Given the description of an element on the screen output the (x, y) to click on. 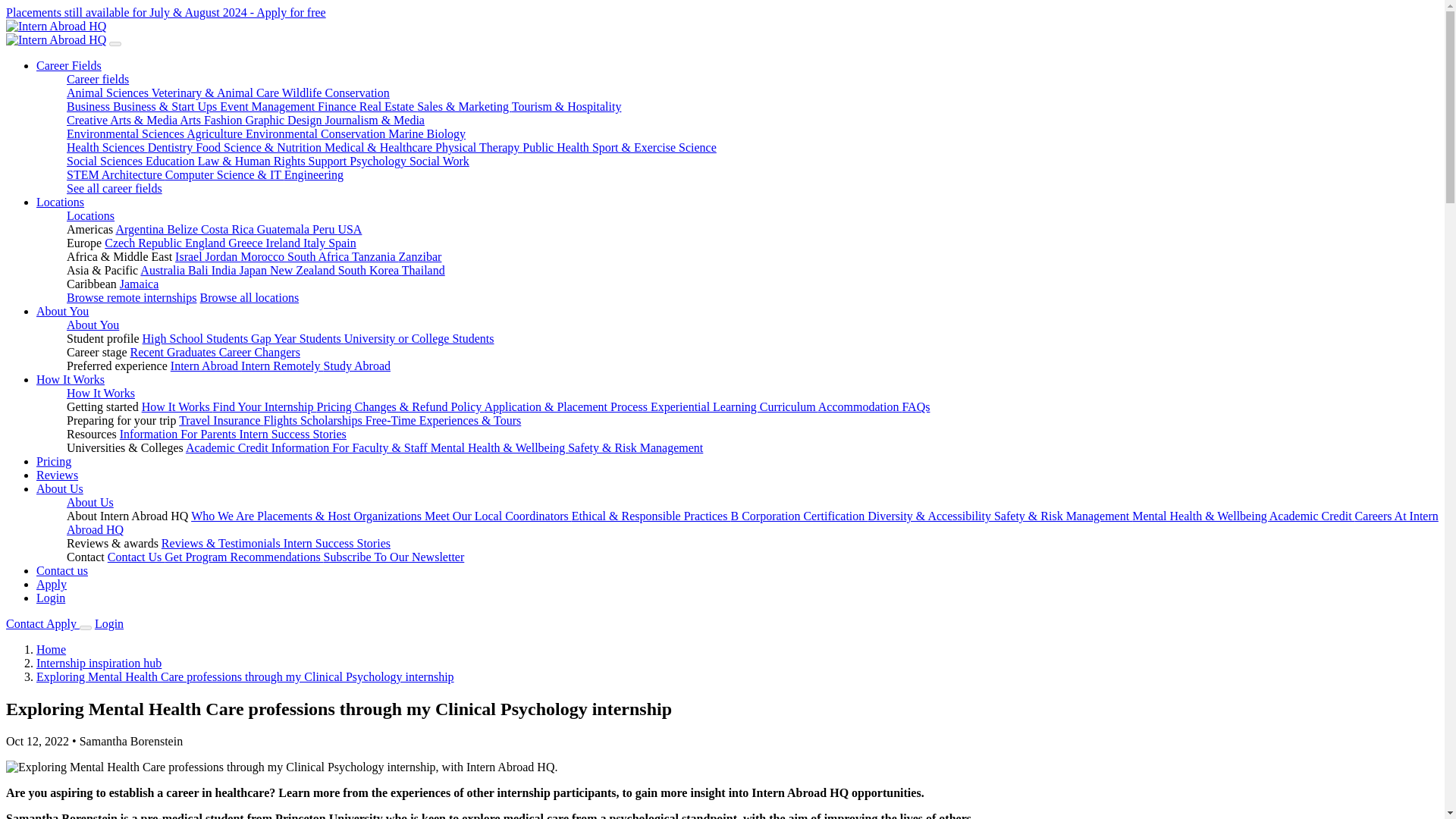
Environmental Conservation (317, 133)
Dentistry (172, 146)
Public Health (557, 146)
Education (171, 160)
STEM (83, 174)
Graphic Design (285, 119)
Marine Biology (426, 133)
Health Sciences (107, 146)
Go to MyIAHQ (108, 623)
Event Management (268, 106)
Real Estate (387, 106)
Finance (338, 106)
Arts (191, 119)
Psychology (379, 160)
Wildlife Conservation (336, 92)
